Given the description of an element on the screen output the (x, y) to click on. 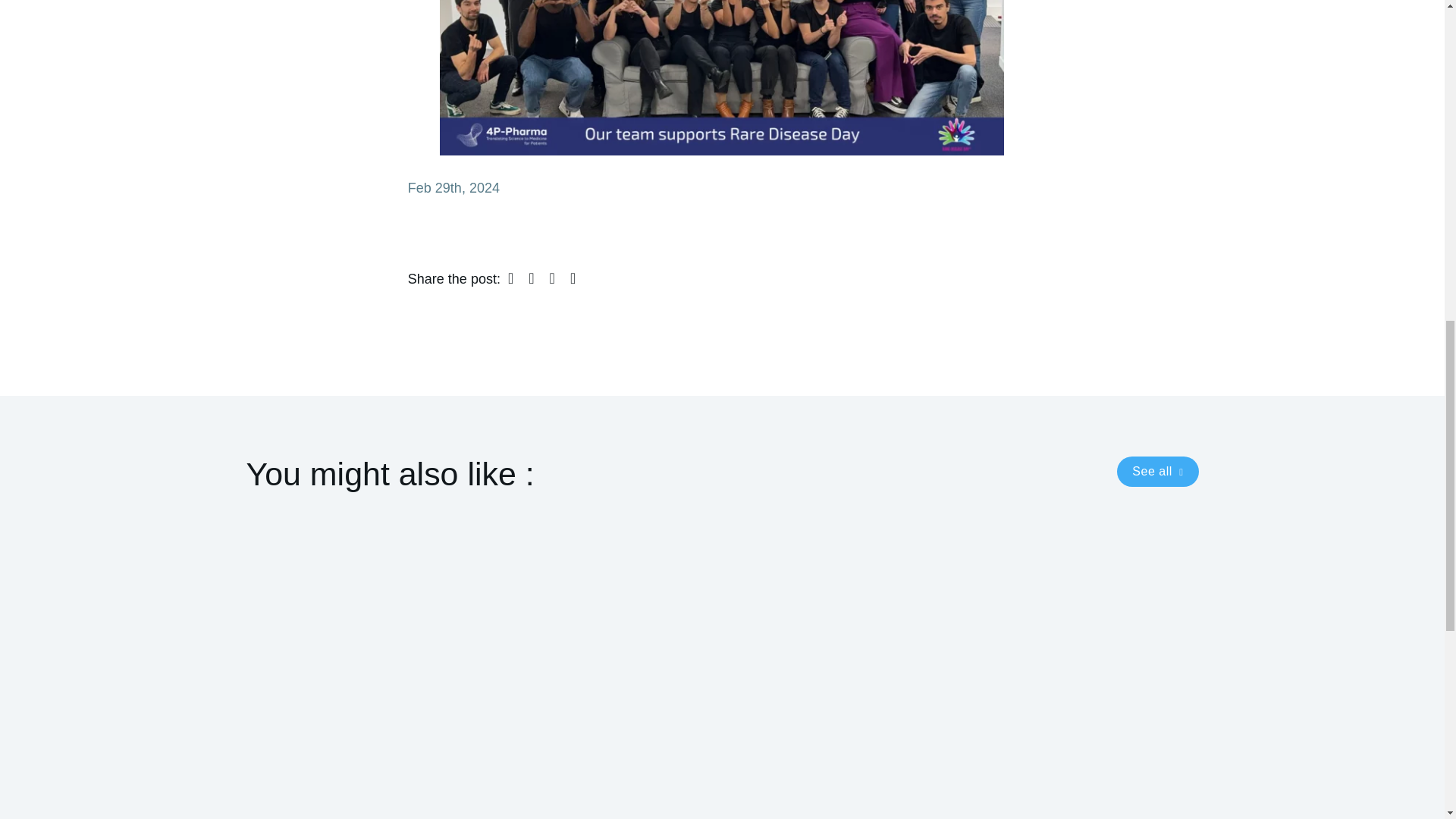
Linkedin (552, 278)
See all (1157, 471)
Twitter (531, 278)
Facebook (510, 278)
